Given the description of an element on the screen output the (x, y) to click on. 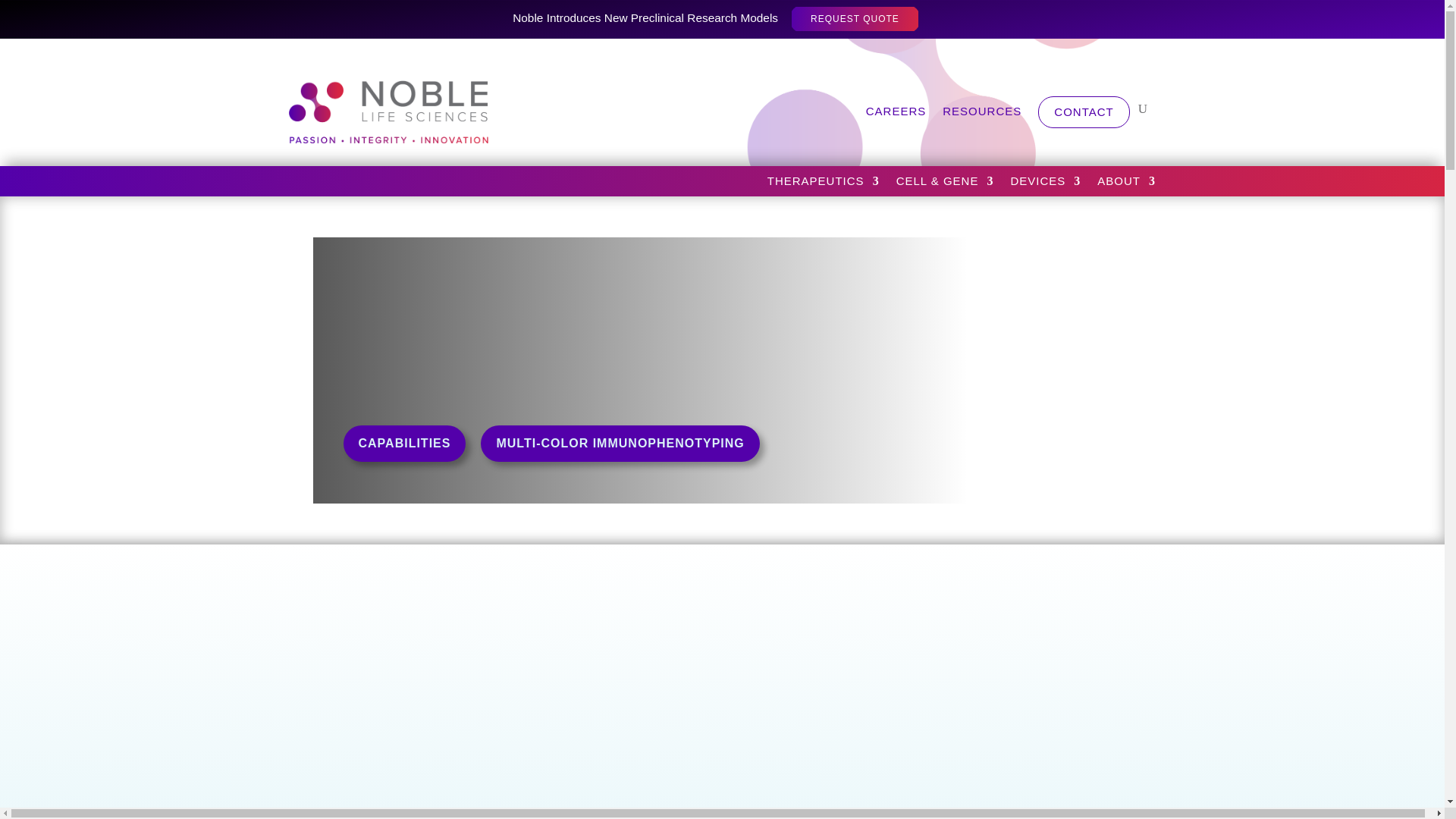
CAREERS (896, 111)
Noble Life Sciences Logo (392, 109)
CONTACT (1083, 111)
ABOUT (1126, 184)
REQUEST QUOTE (854, 18)
RESOURCES (982, 111)
DEVICES (1045, 184)
THERAPEUTICS (823, 184)
